Given the description of an element on the screen output the (x, y) to click on. 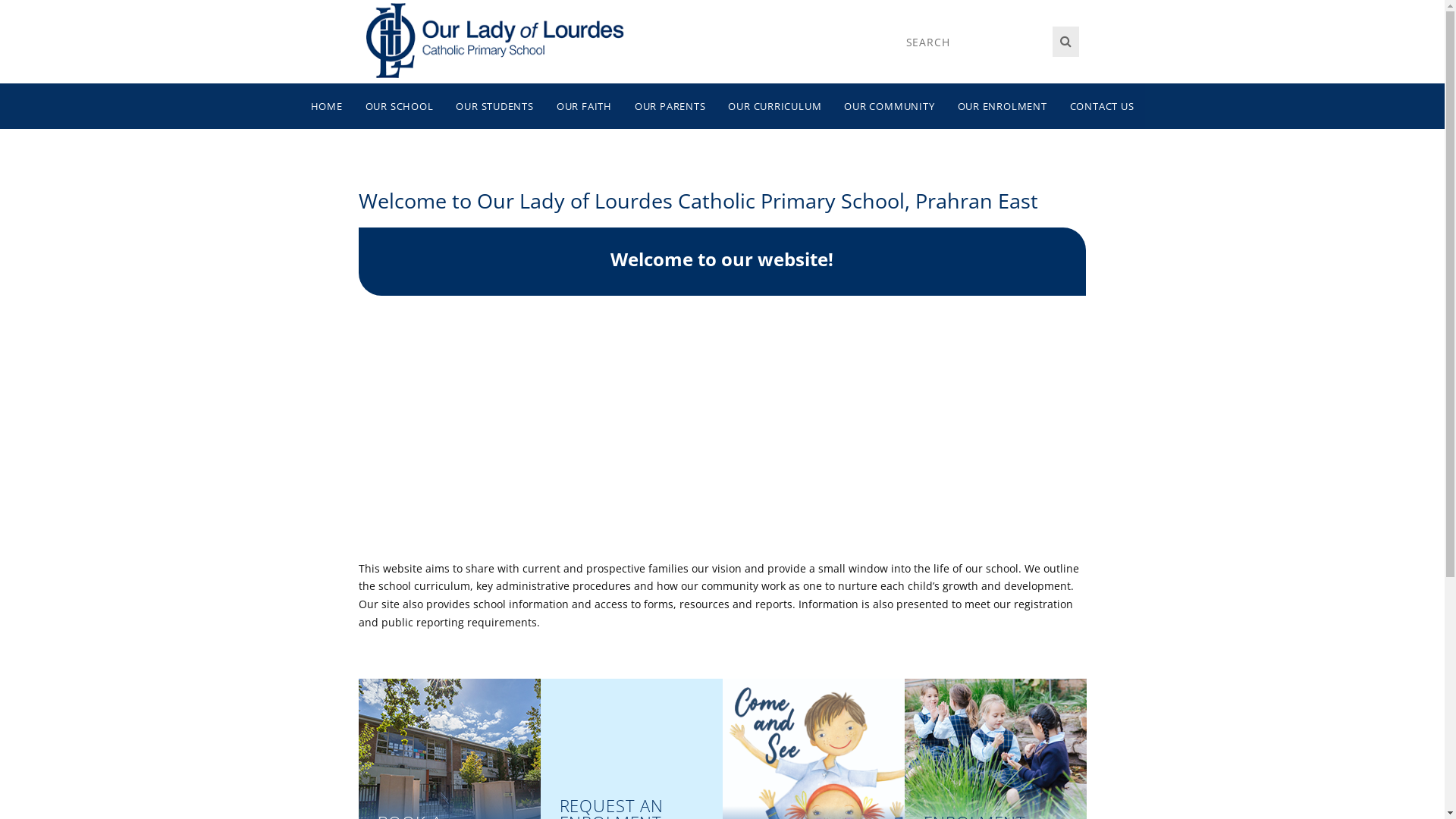
Search Element type: hover (975, 41)
OUR PARENTS Element type: text (670, 105)
Search Element type: hover (1065, 41)
OUR FAITH Element type: text (583, 105)
HOME Element type: text (326, 105)
OUR CURRICULUM Element type: text (774, 105)
CONTACT US Element type: text (1102, 105)
OUR ENROLMENT Element type: text (1002, 105)
OUR STUDENTS Element type: text (494, 105)
OUR COMMUNITY Element type: text (889, 105)
OUR SCHOOL Element type: text (399, 105)
